Given the description of an element on the screen output the (x, y) to click on. 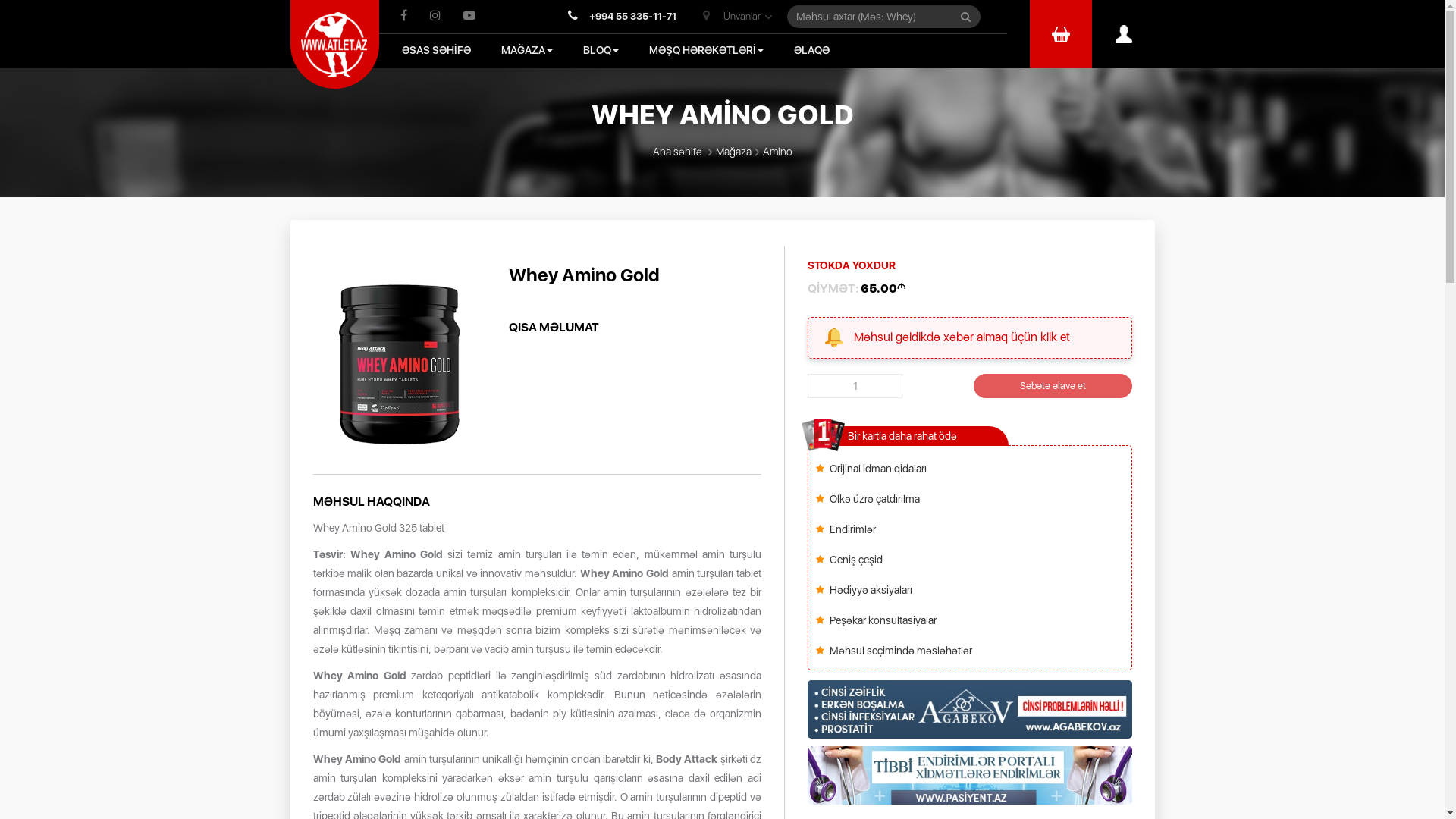
+994 55 335-11-71 Element type: text (621, 16)
BLOQ Element type: text (600, 49)
